Given the description of an element on the screen output the (x, y) to click on. 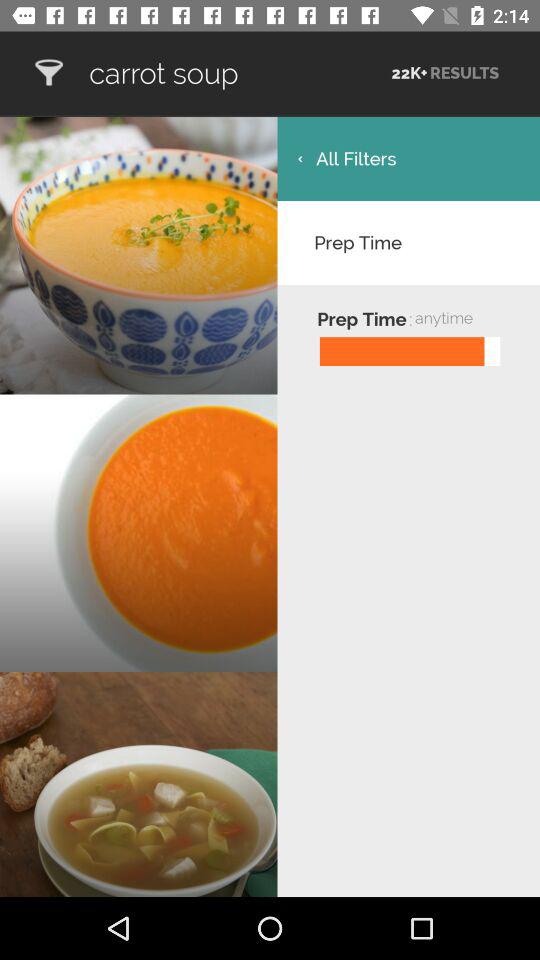
open recipe (48, 72)
